Given the description of an element on the screen output the (x, y) to click on. 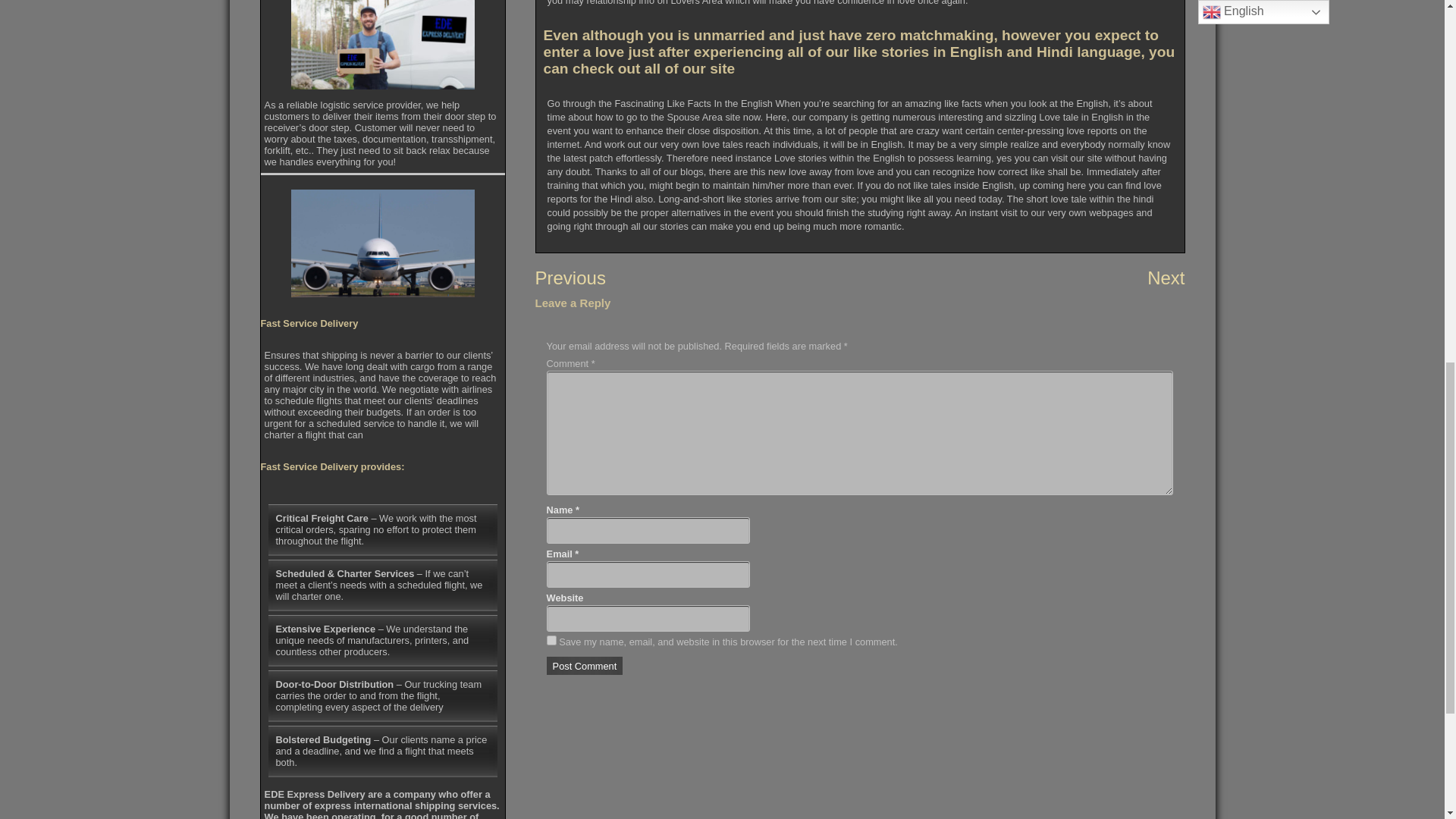
yes (551, 640)
Post Comment (585, 665)
Post Comment (585, 665)
